Given the description of an element on the screen output the (x, y) to click on. 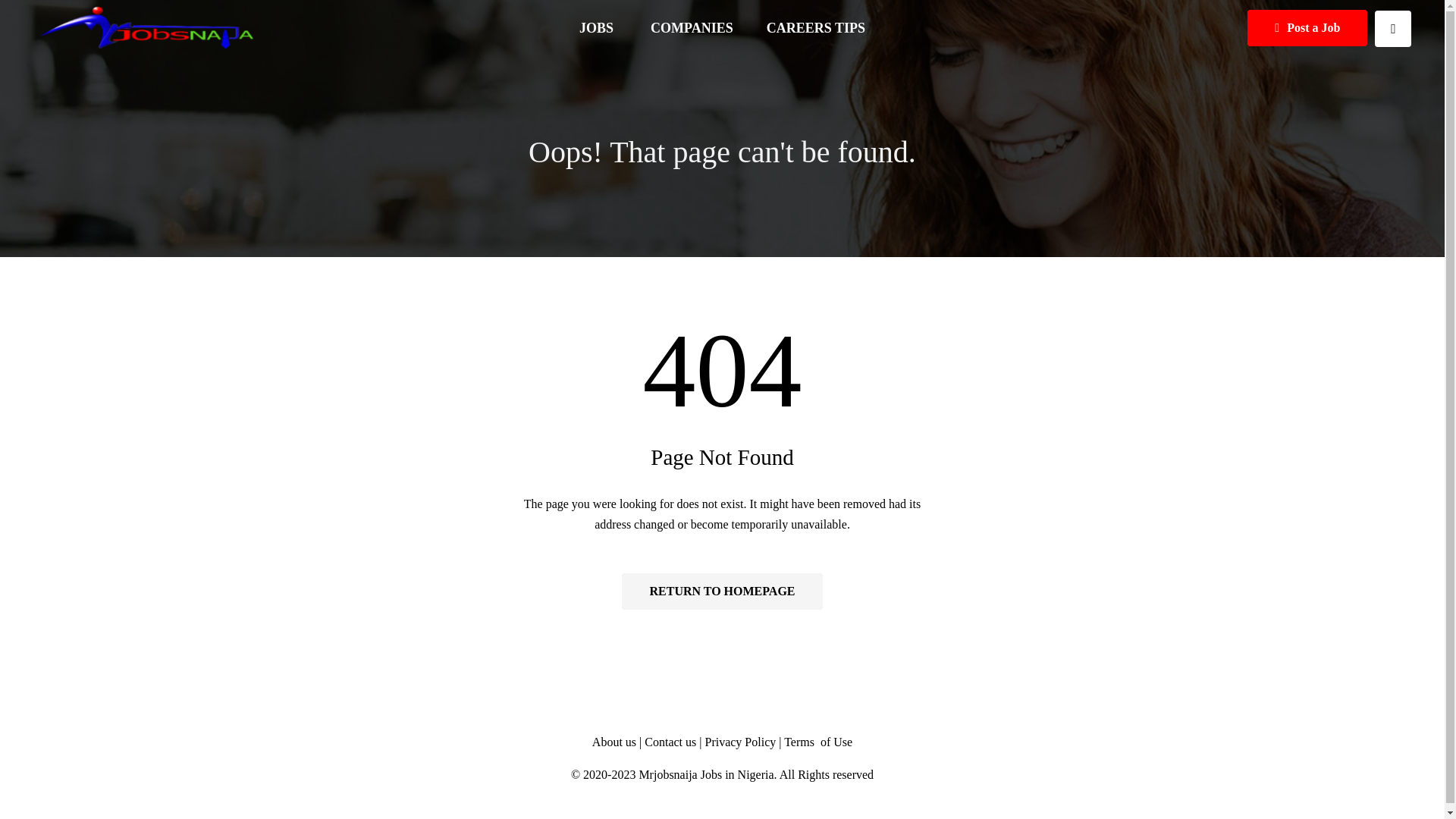
RETURN TO HOMEPAGE (721, 591)
COMPANIES (691, 27)
Contact us (671, 741)
Post a Job (1307, 27)
About us (614, 741)
JOBS (597, 27)
CAREERS TIPS (815, 27)
Home Page (721, 591)
Terms  of Use (817, 741)
Privacy Policy (740, 741)
